Given the description of an element on the screen output the (x, y) to click on. 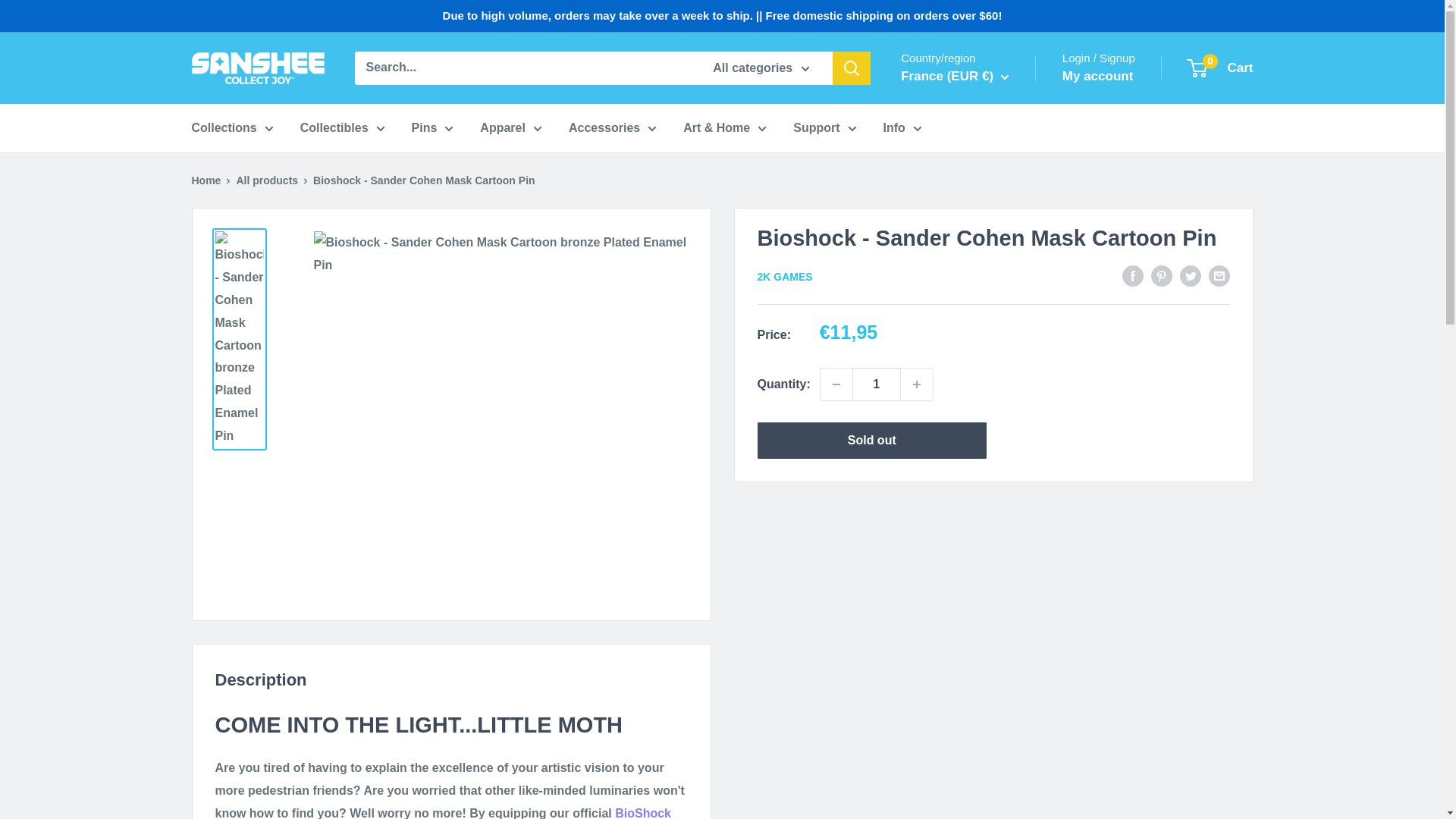
1 (876, 384)
Official BioShock Collection (642, 812)
Decrease quantity by 1 (836, 384)
Increase quantity by 1 (917, 384)
